Given the description of an element on the screen output the (x, y) to click on. 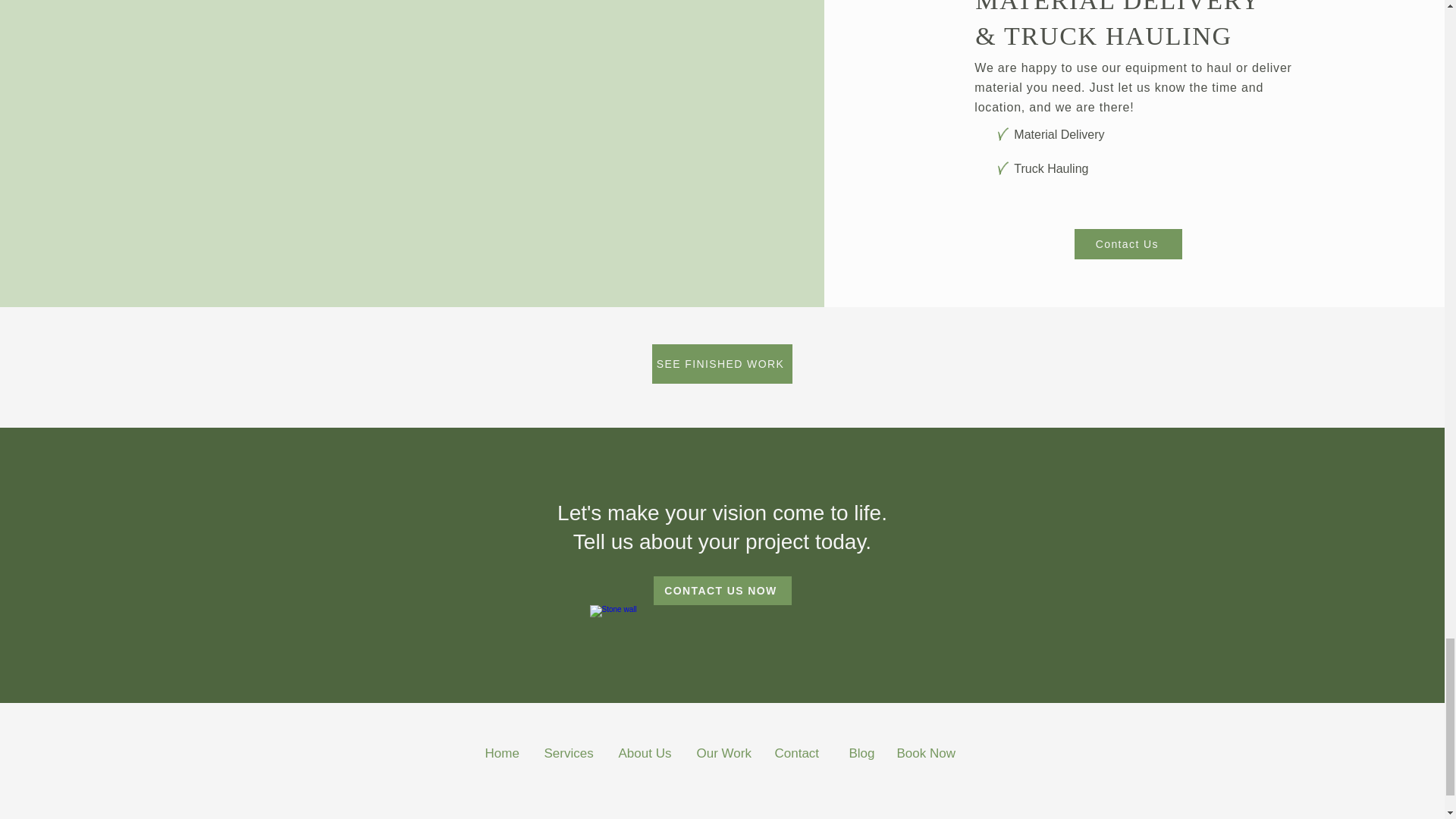
CONTACT US NOW (722, 590)
SEE FINISHED WORK (722, 363)
Services (569, 753)
Home (501, 753)
Contact Us (1128, 244)
About Us (644, 753)
